Given the description of an element on the screen output the (x, y) to click on. 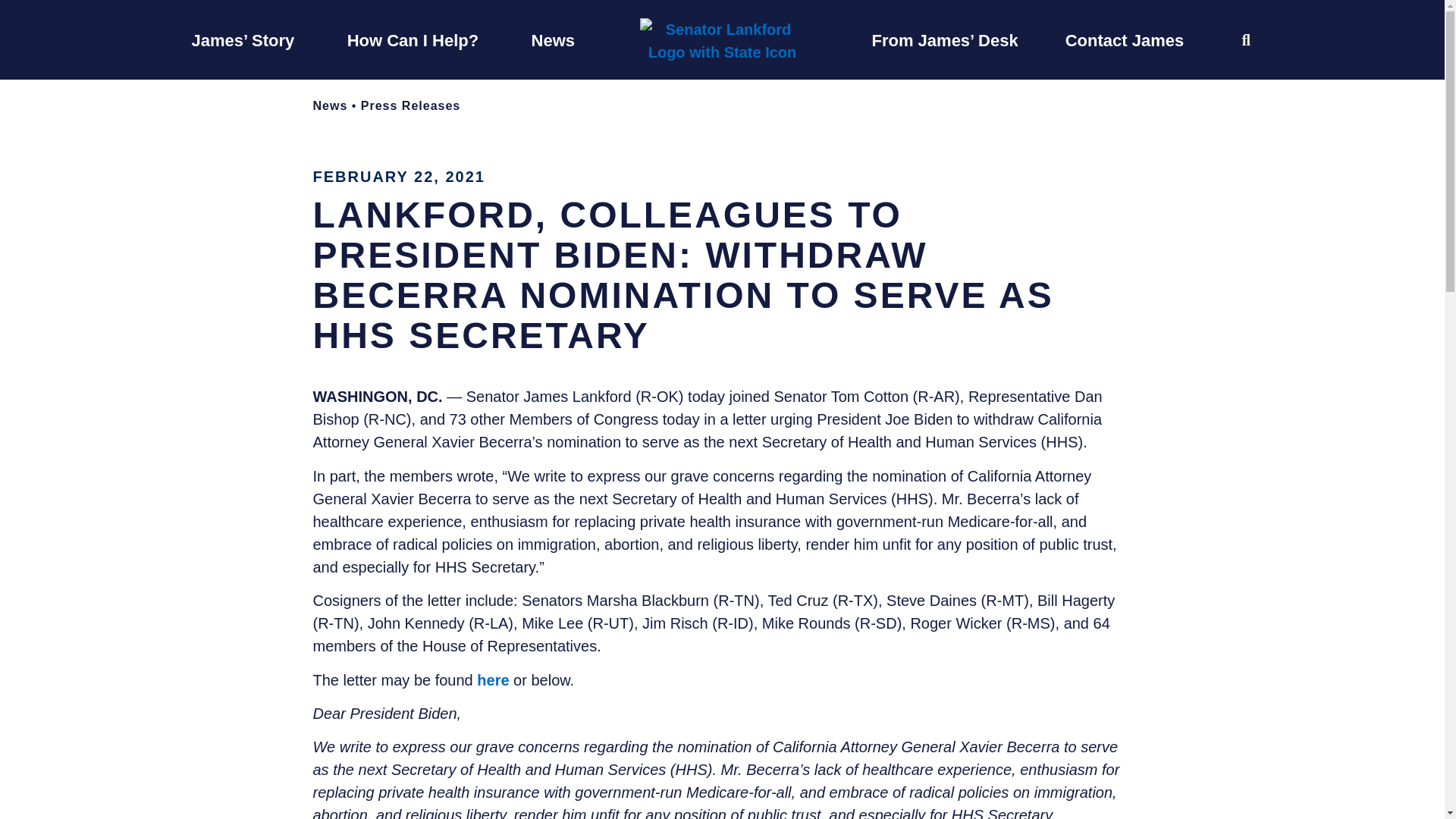
OPEN SEARCH (1246, 38)
Contact James (1125, 38)
News (553, 38)
How Can I Help? (413, 38)
News (330, 105)
